Given the description of an element on the screen output the (x, y) to click on. 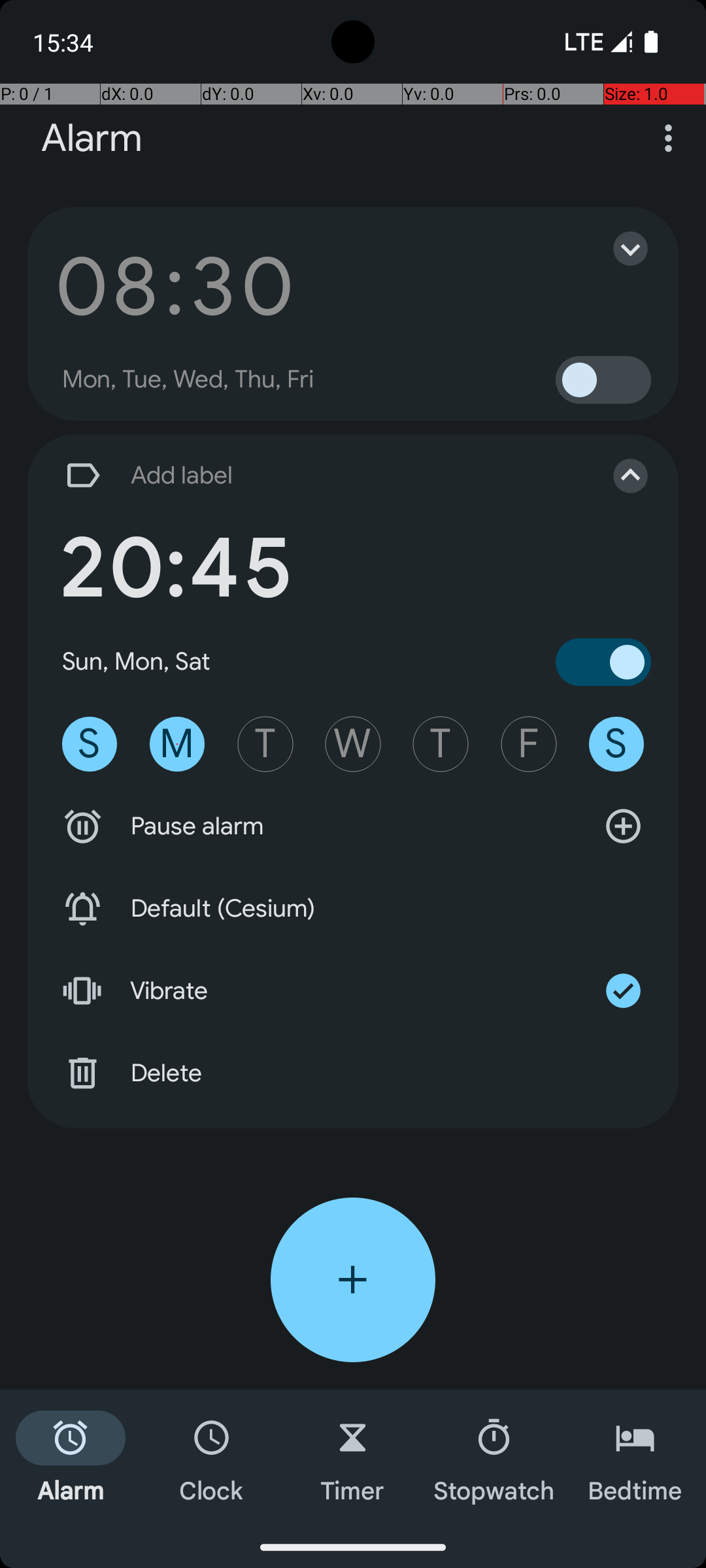
Add alarm Element type: android.widget.Button (352, 1279)
08:30 Element type: android.widget.TextView (174, 286)
Expand alarm Element type: android.widget.ImageButton (616, 248)
Mon, Tue, Wed, Thu, Fri Element type: android.widget.TextView (187, 379)
Add label Element type: android.widget.TextView (318, 475)
Collapse alarm Element type: android.widget.ImageButton (616, 475)
20:45 Element type: android.widget.TextView (174, 568)
Sun, Mon, Sat Element type: android.widget.TextView (136, 661)
S Element type: android.widget.CheckBox (89, 743)
M Element type: android.widget.CheckBox (176, 743)
T Element type: android.widget.CheckBox (265, 743)
W Element type: android.widget.CheckBox (352, 743)
F Element type: android.widget.CheckBox (528, 743)
Pause alarm Element type: android.widget.TextView (352, 826)
Default (Cesium) Element type: android.widget.TextView (352, 908)
Vibrate Element type: android.widget.CheckBox (352, 990)
